Given the description of an element on the screen output the (x, y) to click on. 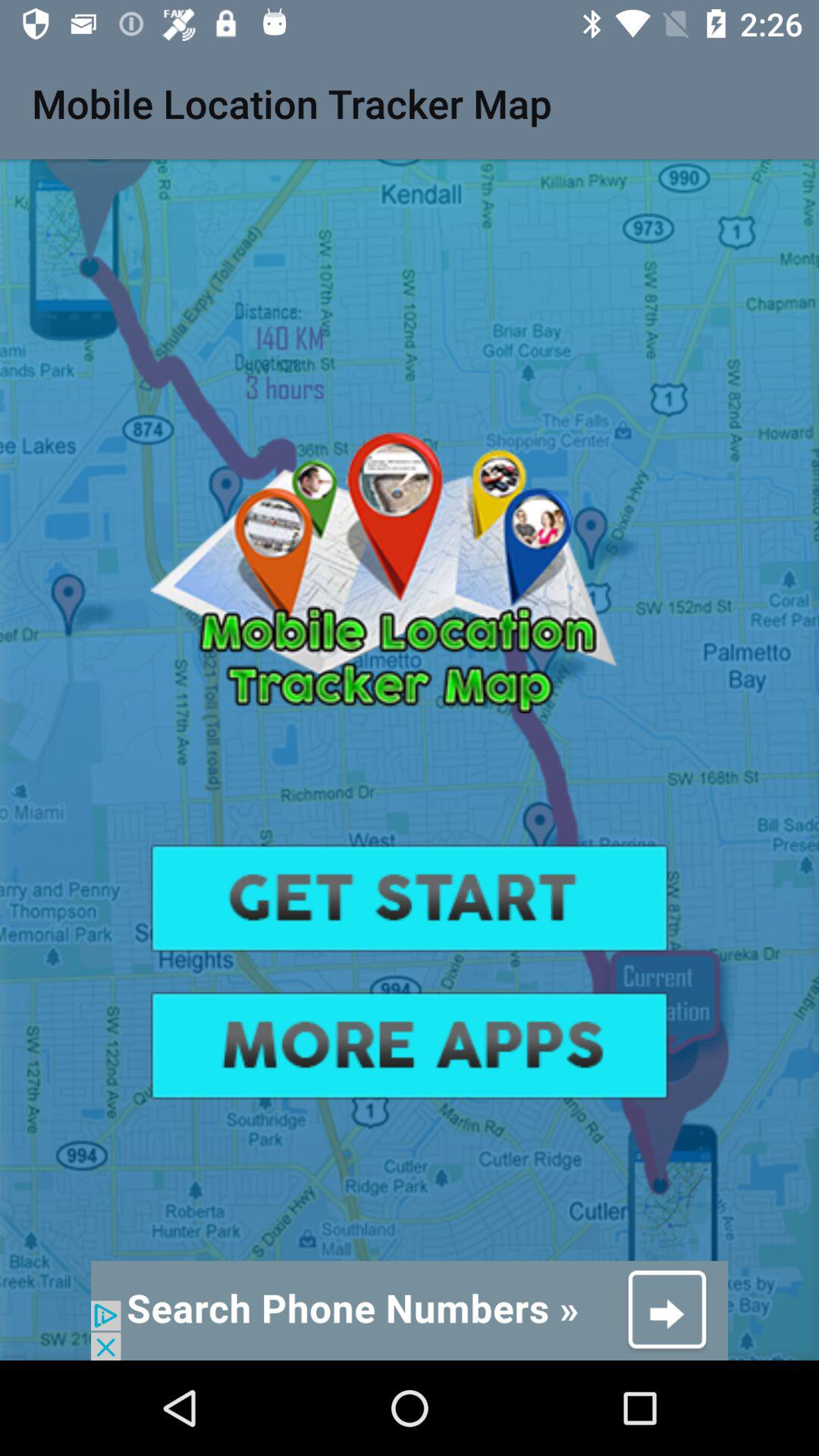
advatisment (409, 1045)
